Given the description of an element on the screen output the (x, y) to click on. 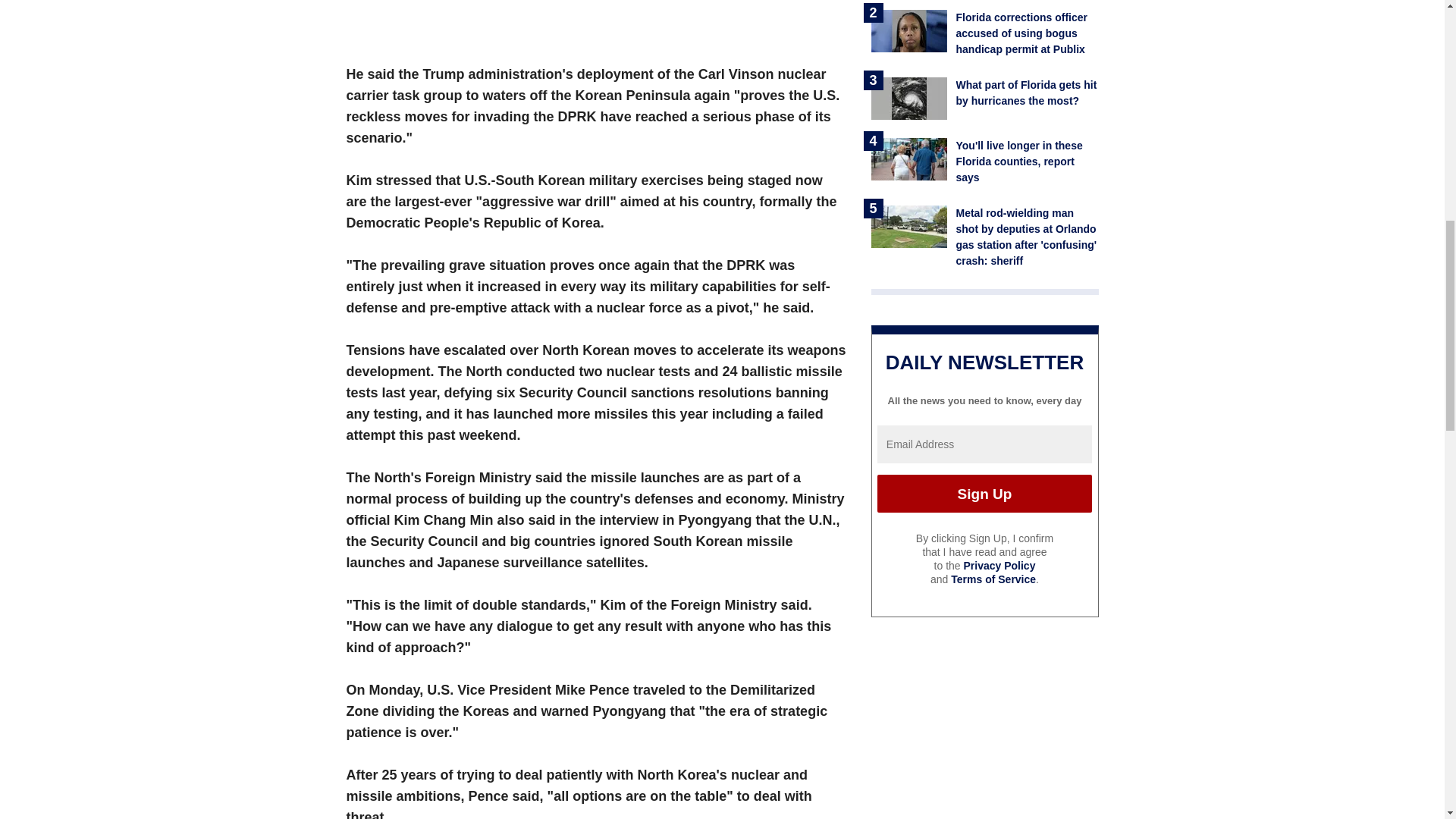
Sign Up (984, 493)
